Given the description of an element on the screen output the (x, y) to click on. 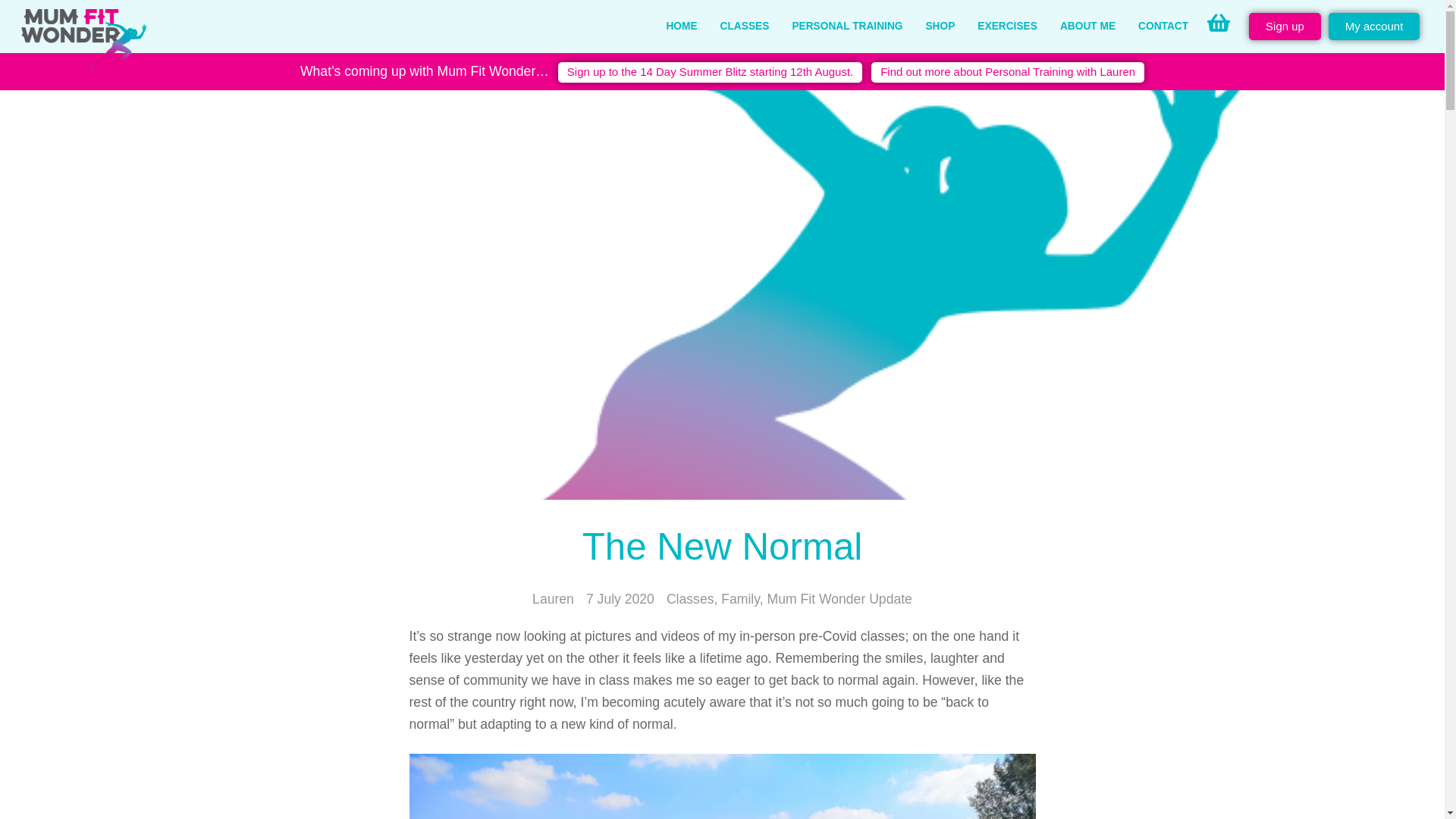
PERSONAL TRAINING (847, 26)
CLASSES (744, 26)
ABOUT ME (1087, 26)
EXERCISES (1007, 26)
HOME (680, 26)
CONTACT (1162, 26)
SHOP (940, 26)
